Given the description of an element on the screen output the (x, y) to click on. 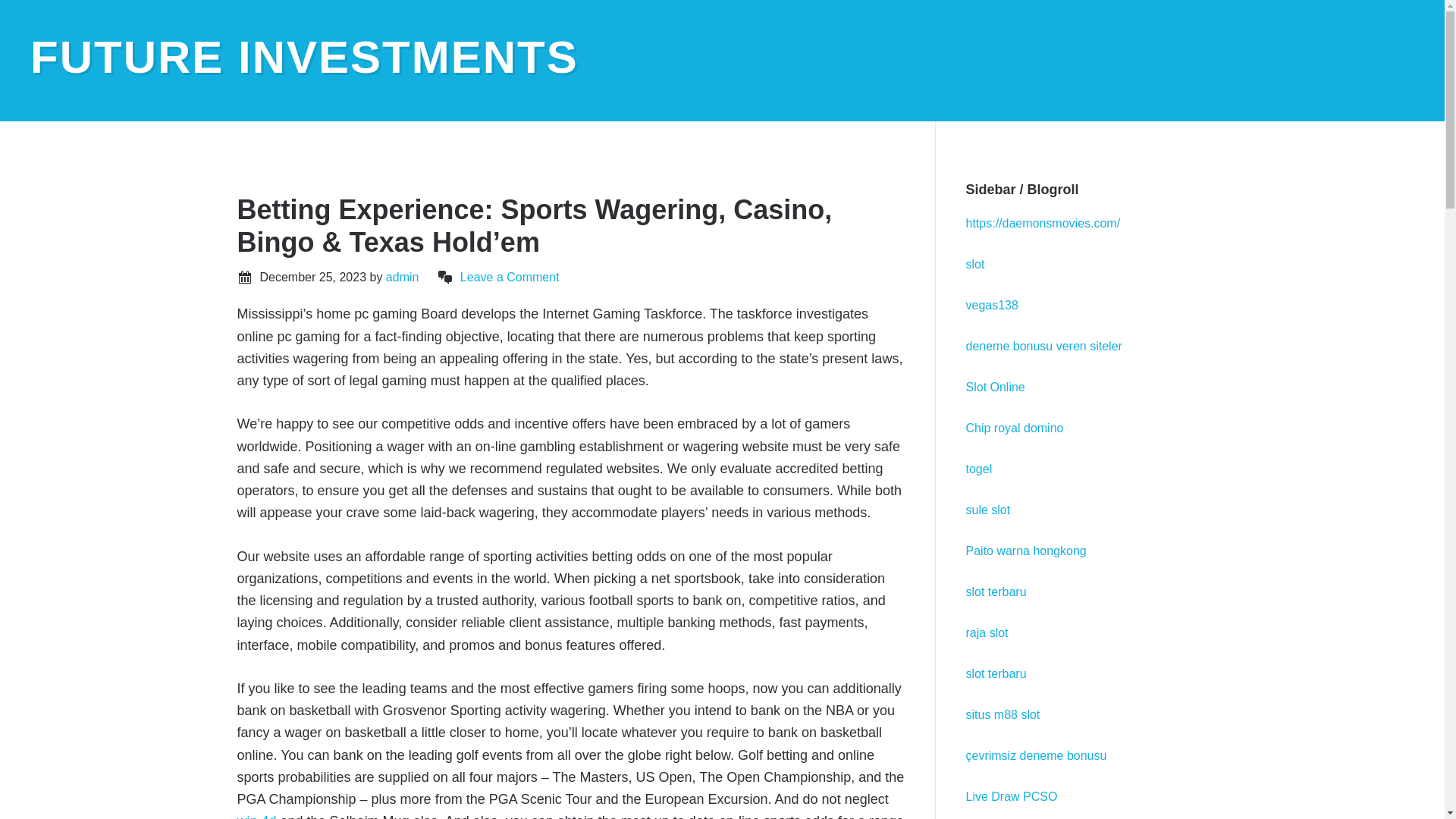
admin (402, 277)
togel (979, 468)
raja slot (987, 632)
sule slot (988, 509)
vegas138 (991, 305)
slot terbaru (996, 591)
Live Draw PCSO (1012, 796)
Slot Online (995, 386)
win 4d (255, 816)
situs m88 slot (1003, 714)
Chip royal domino (1015, 427)
Leave a Comment (509, 277)
Paito warna hongkong (1026, 550)
FUTURE INVESTMENTS (304, 56)
slot (975, 264)
